Given the description of an element on the screen output the (x, y) to click on. 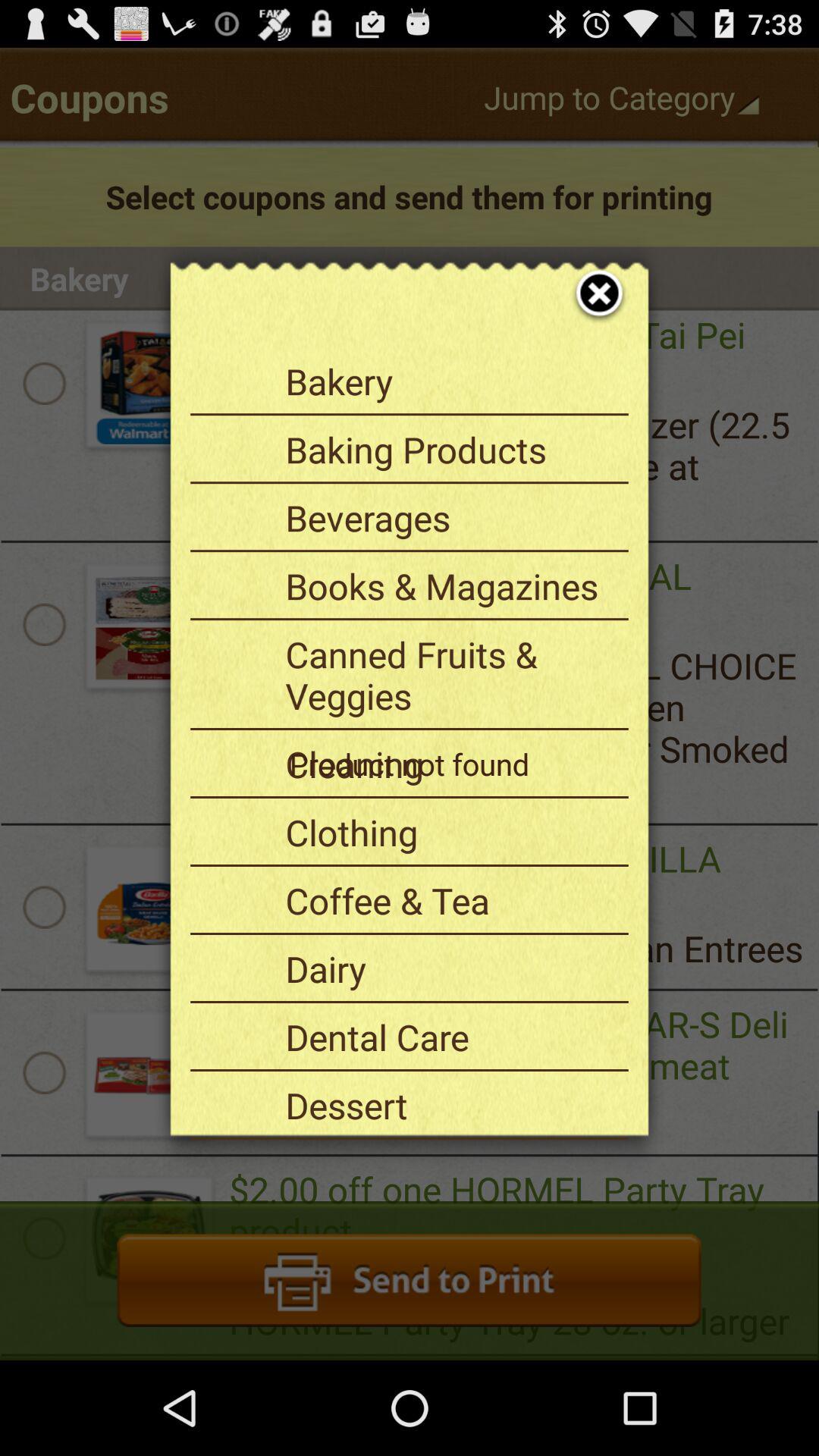
open the cleaning item (451, 763)
